Given the description of an element on the screen output the (x, y) to click on. 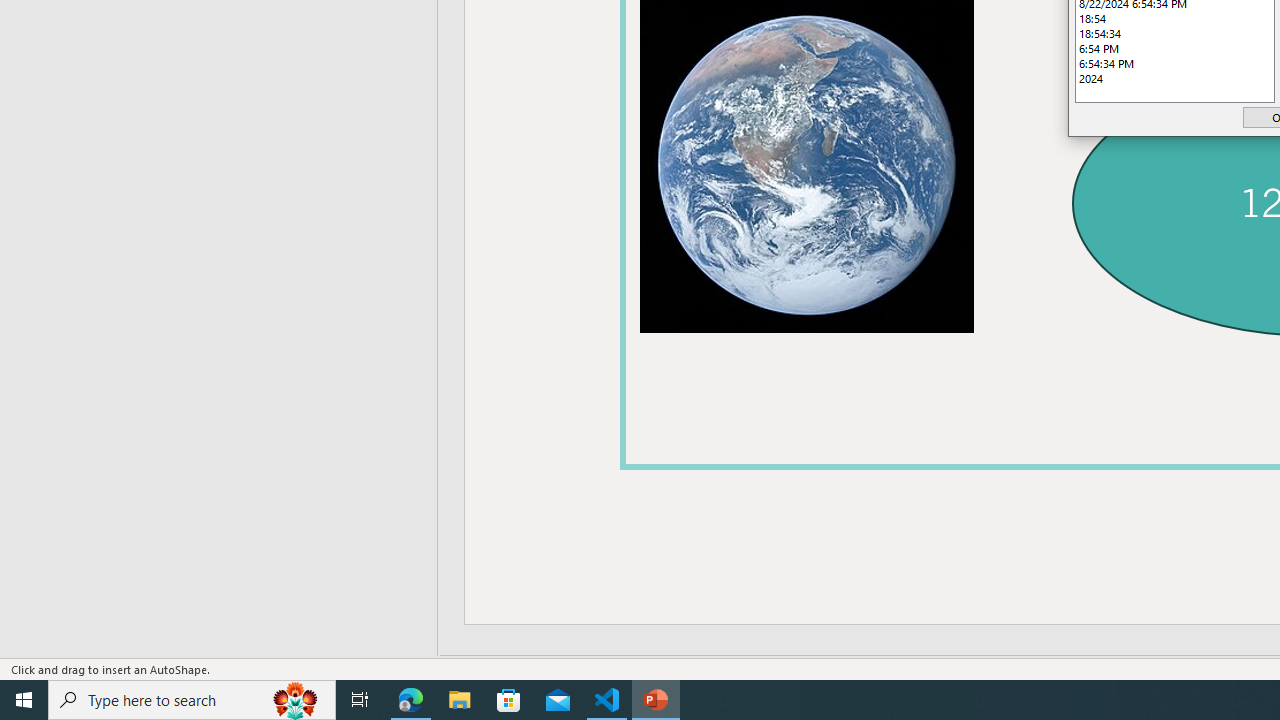
PowerPoint - 1 running window (656, 699)
18:54 (1174, 17)
File Explorer (460, 699)
Type here to search (191, 699)
6:54 PM (1174, 48)
Microsoft Edge - 1 running window (411, 699)
18:54:34 (1174, 33)
2024 (1174, 78)
6:54:34 PM (1174, 63)
Microsoft Store (509, 699)
Task View (359, 699)
Visual Studio Code - 1 running window (607, 699)
Search highlights icon opens search home window (295, 699)
